Given the description of an element on the screen output the (x, y) to click on. 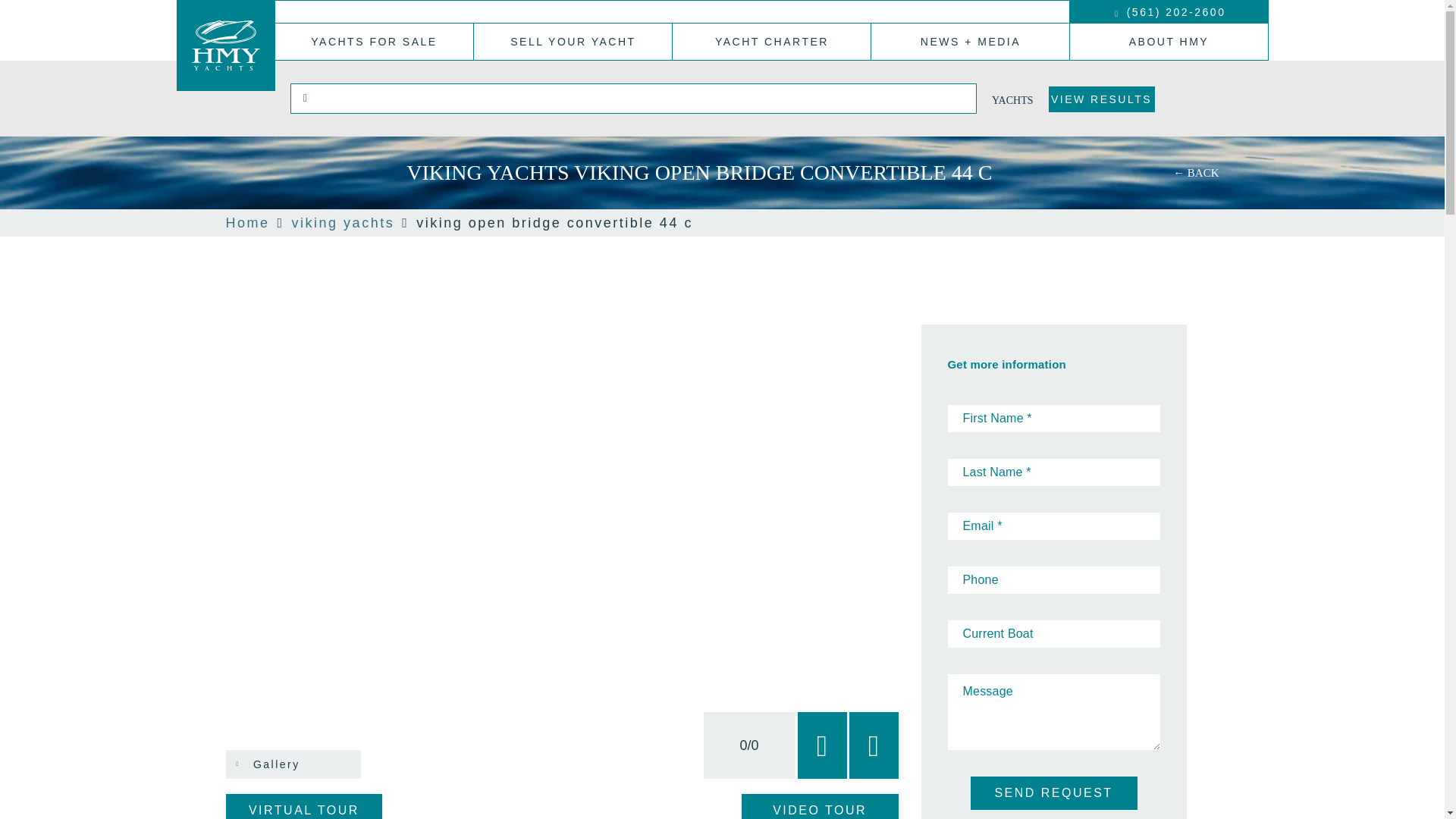
Sell Your Yacht (572, 41)
Yacht Charter (771, 41)
Yachting (969, 41)
Home (247, 222)
Why HMY (1168, 41)
Yachts for Sale (374, 41)
